Given the description of an element on the screen output the (x, y) to click on. 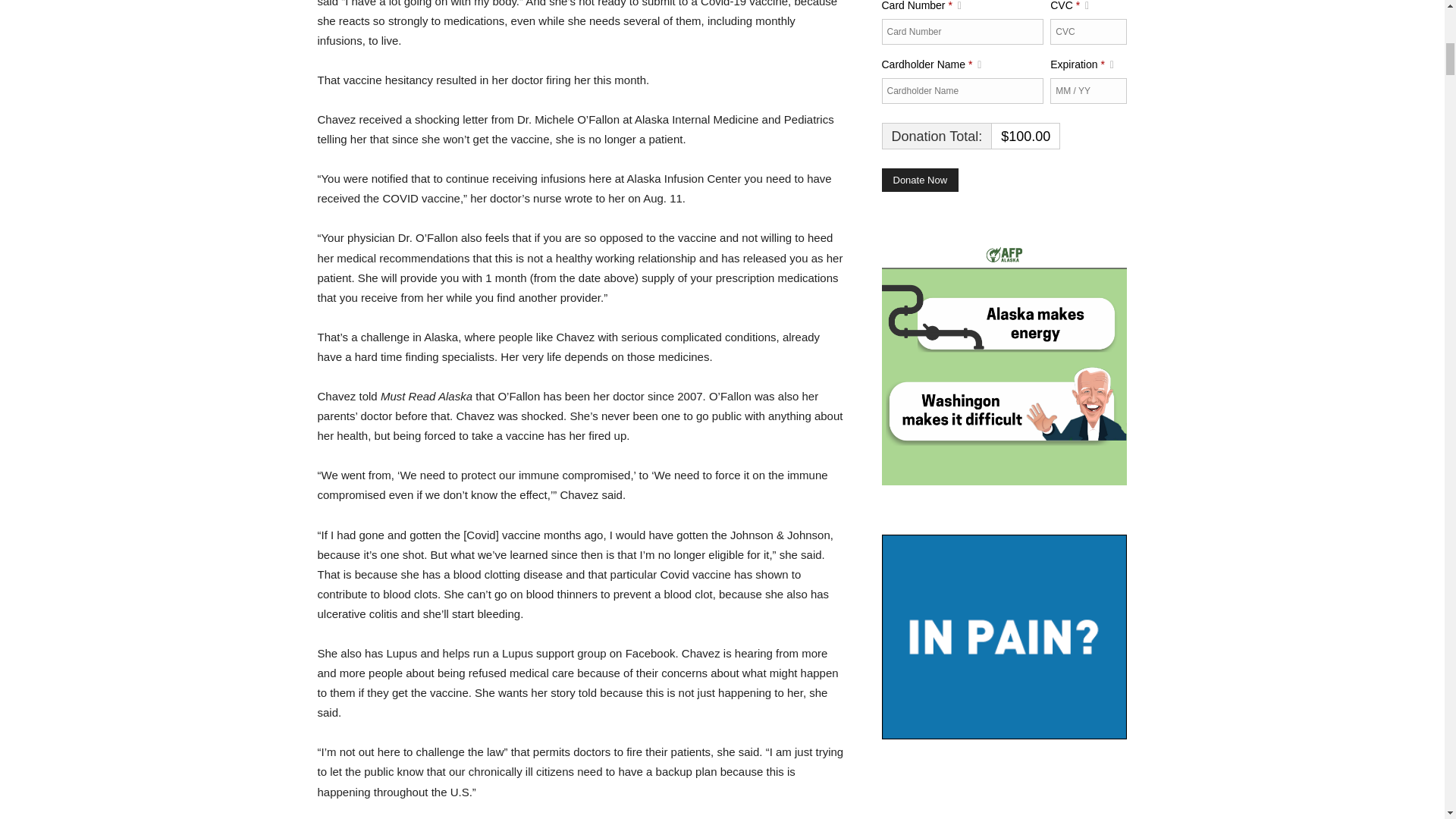
Donate Now (919, 180)
